Given the description of an element on the screen output the (x, y) to click on. 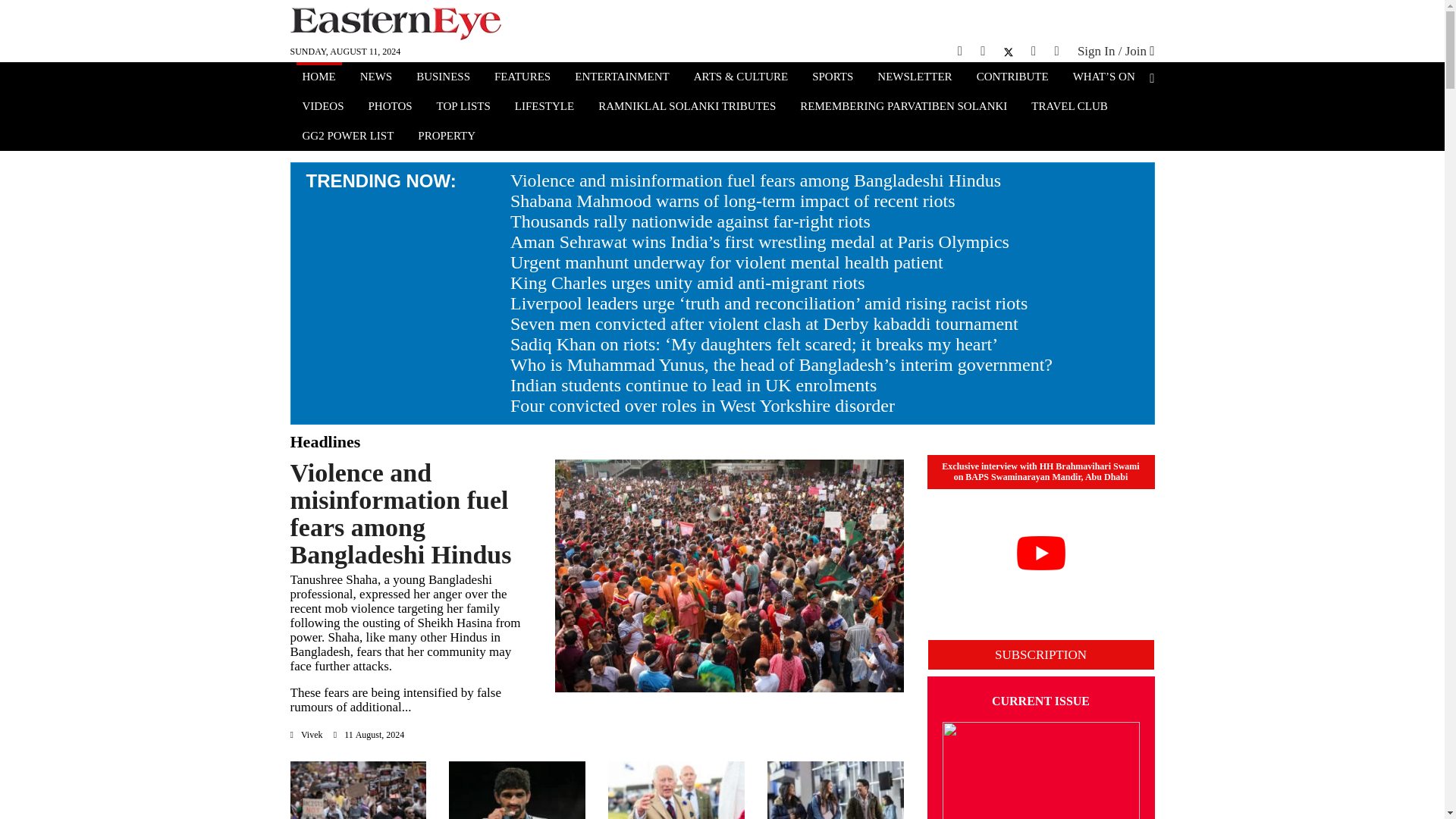
King Charles urges unity amid anti-migrant riots (687, 282)
RAMNIKLAL SOLANKI TRIBUTES (686, 108)
CONTRIBUTE (1012, 78)
Urgent manhunt underway for violent mental health patient (727, 261)
NEWSLETTER (914, 78)
SPORTS (832, 78)
Thousands rally nationwide against far-right riots (690, 220)
GG2 POWER LIST (346, 137)
